Given the description of an element on the screen output the (x, y) to click on. 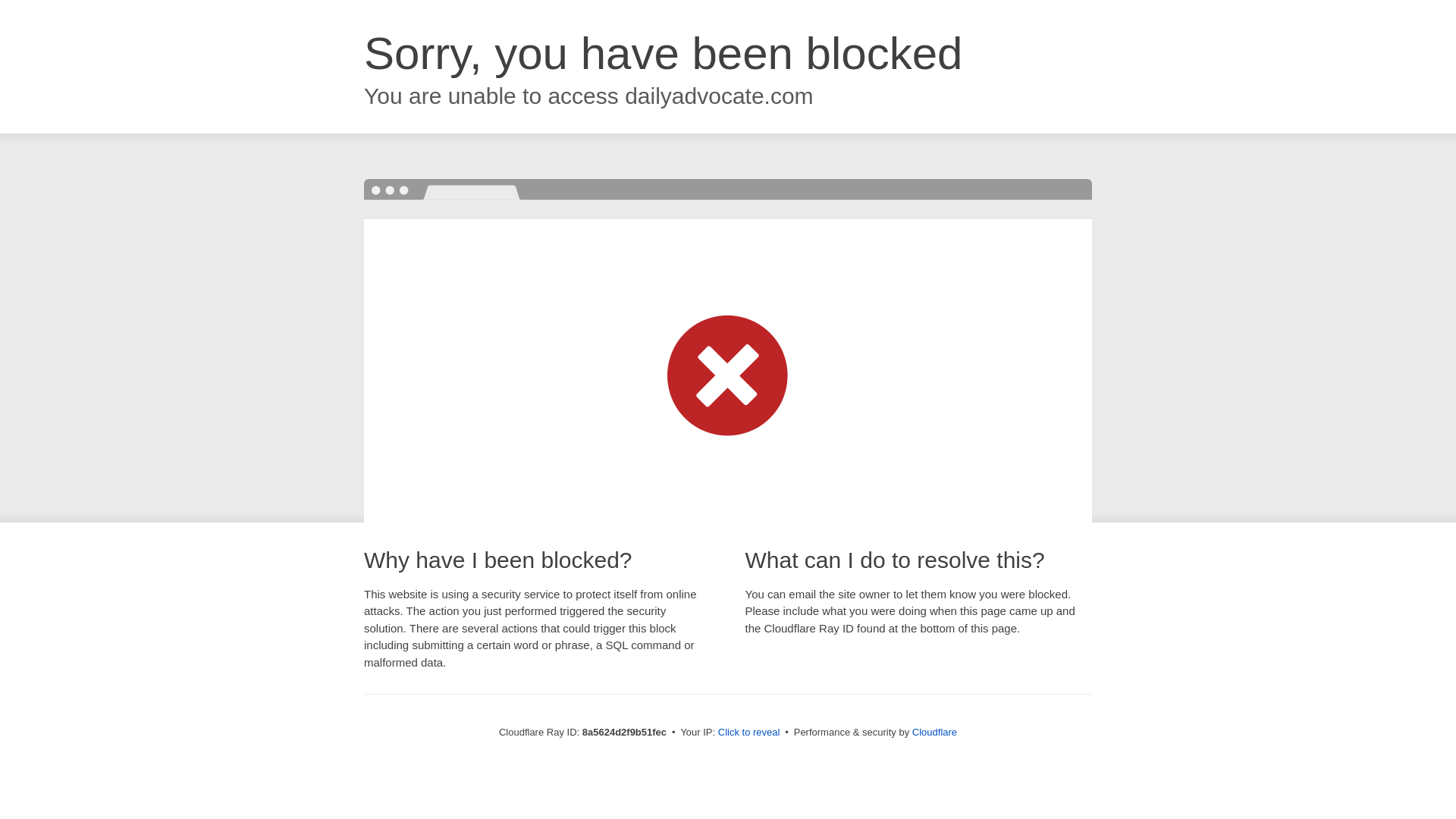
Click to reveal (748, 732)
Cloudflare (934, 731)
